Given the description of an element on the screen output the (x, y) to click on. 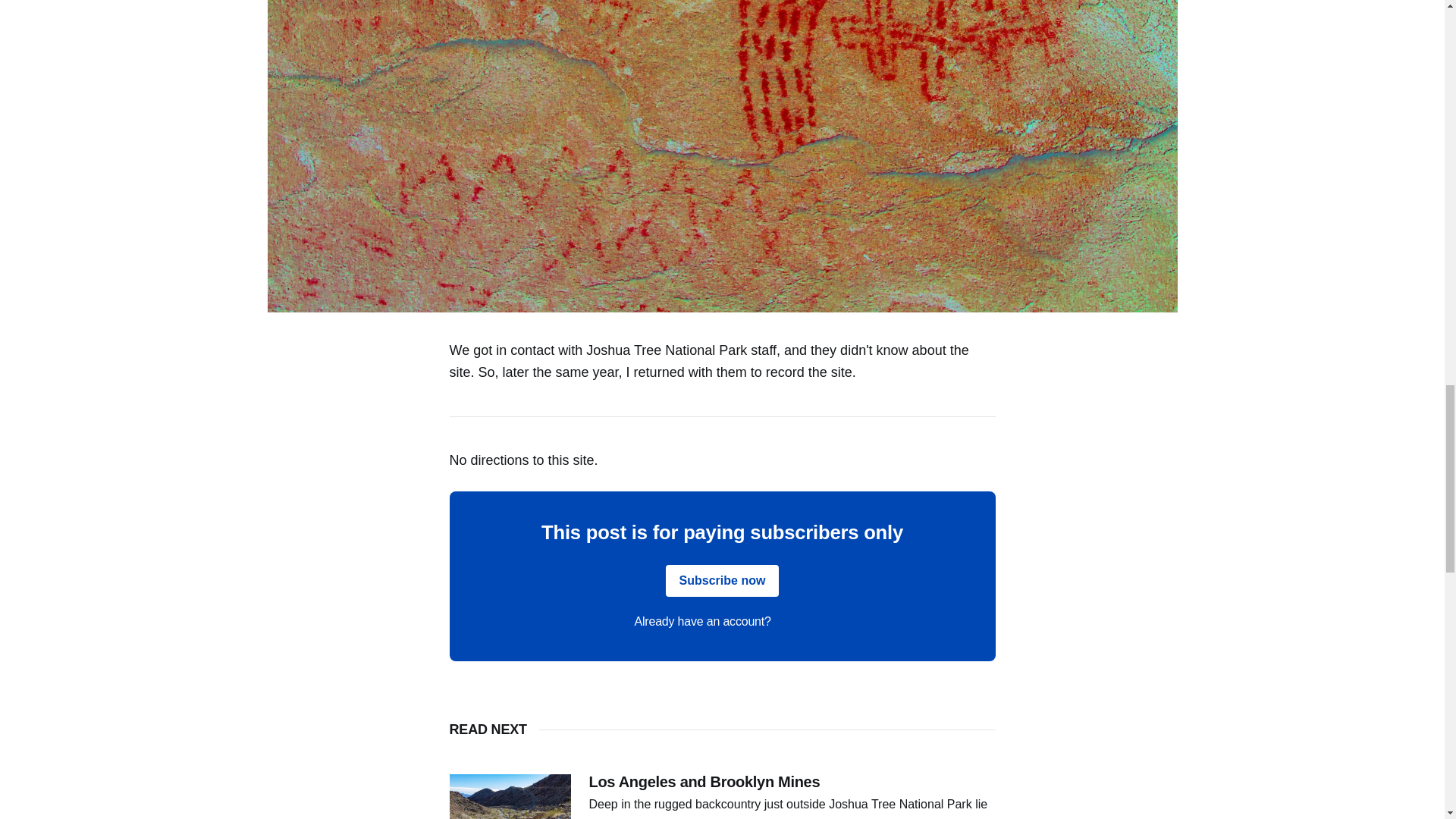
Subscribe now (721, 581)
Sign in (792, 621)
